Given the description of an element on the screen output the (x, y) to click on. 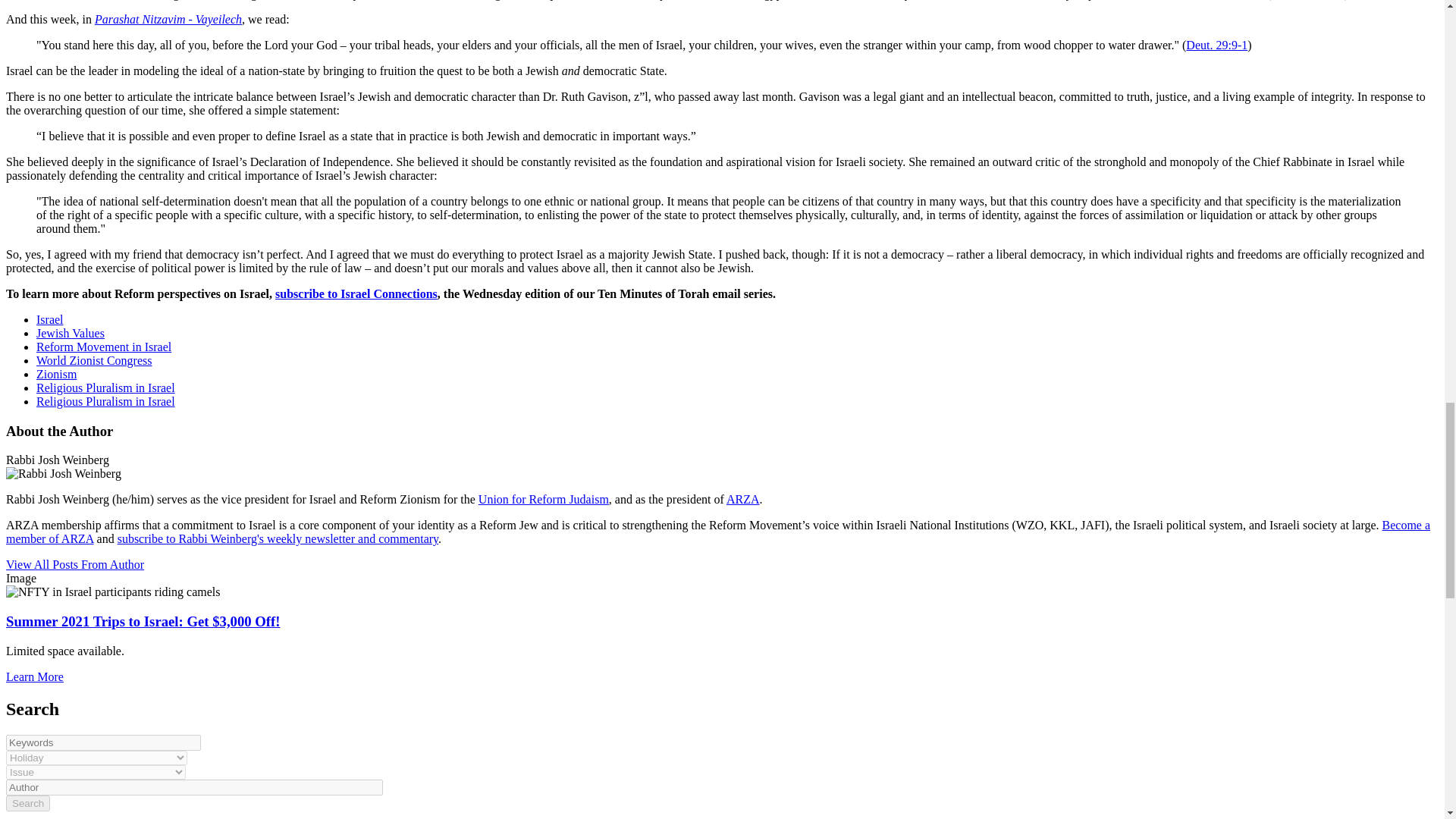
Search (27, 803)
